Given the description of an element on the screen output the (x, y) to click on. 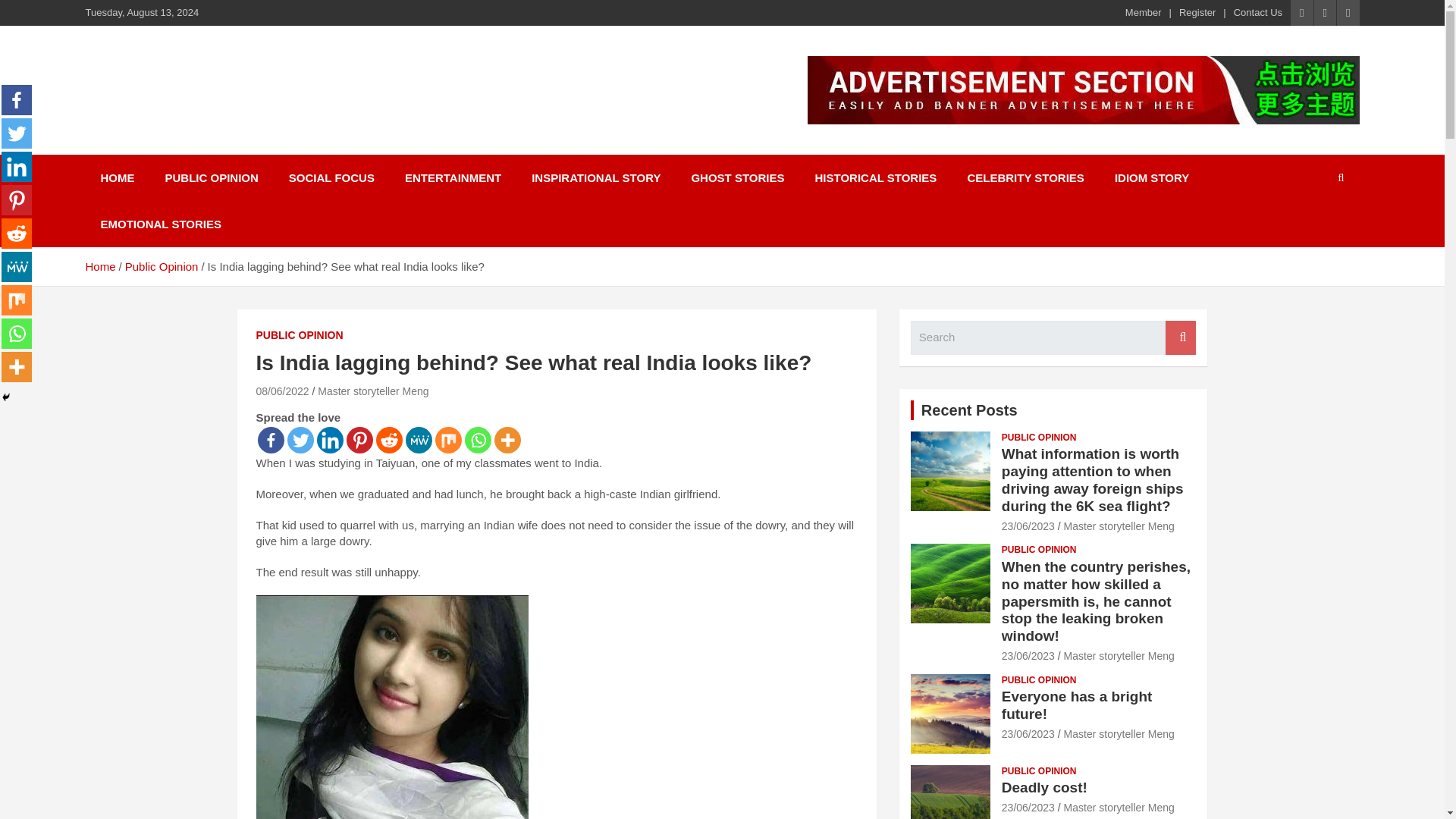
HOME (116, 177)
Twitter (299, 439)
SOCIAL FOCUS (331, 177)
PUBLIC OPINION (299, 335)
Whatsapp (477, 439)
PUBLIC OPINION (211, 177)
More (508, 439)
Facebook (16, 100)
Pinterest (359, 439)
MeWe (417, 439)
